Given the description of an element on the screen output the (x, y) to click on. 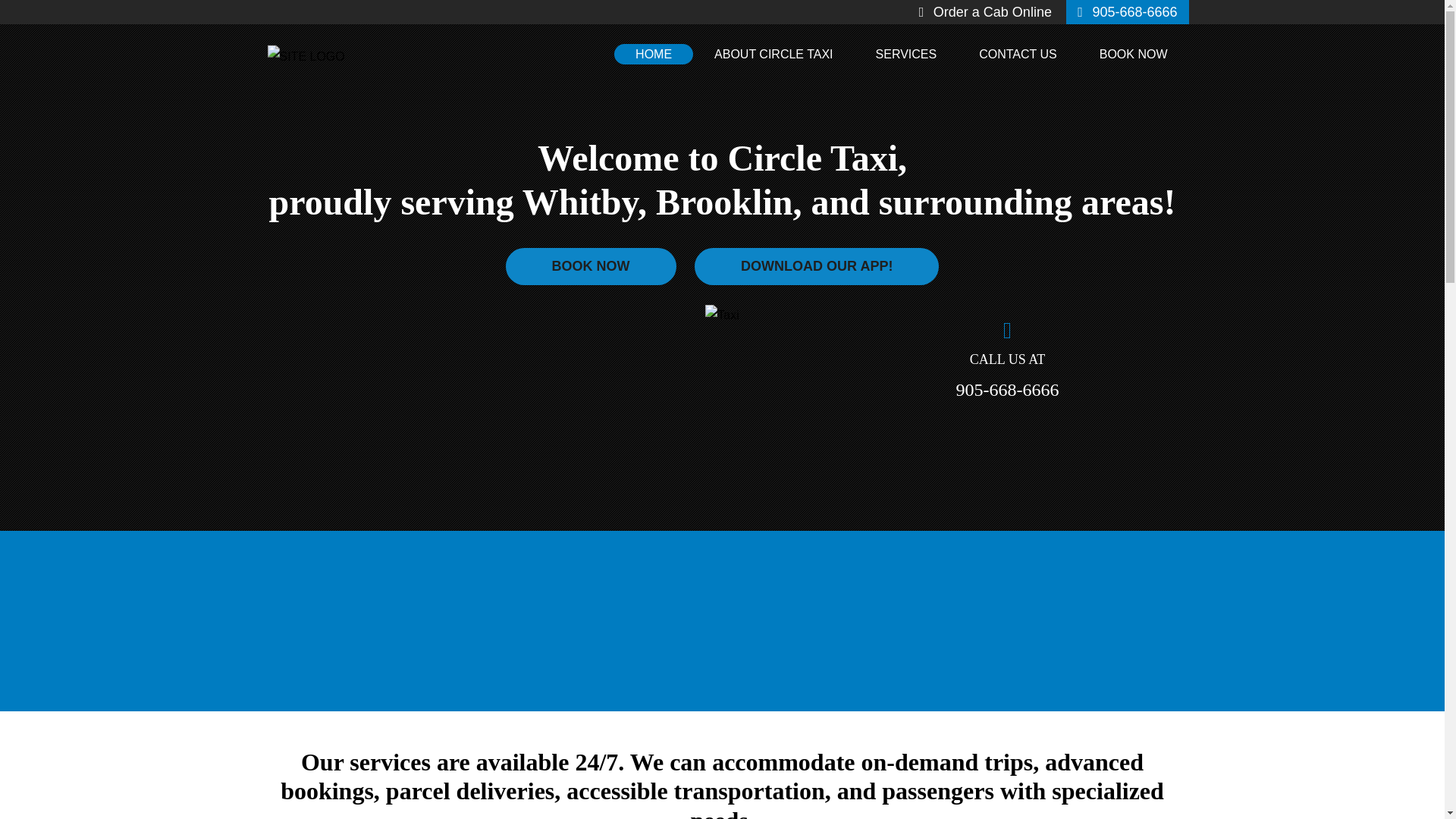
ABOUT CIRCLE TAXI (773, 54)
Order a Cab Online (992, 11)
BOOK NOW (1133, 54)
905-668-6666 (1006, 389)
DOWNLOAD OUR APP! (816, 266)
SERVICES (906, 54)
CONTACT US (1018, 54)
905-668-6666 (1134, 11)
HOME (653, 54)
BOOK NOW (591, 266)
